Given the description of an element on the screen output the (x, y) to click on. 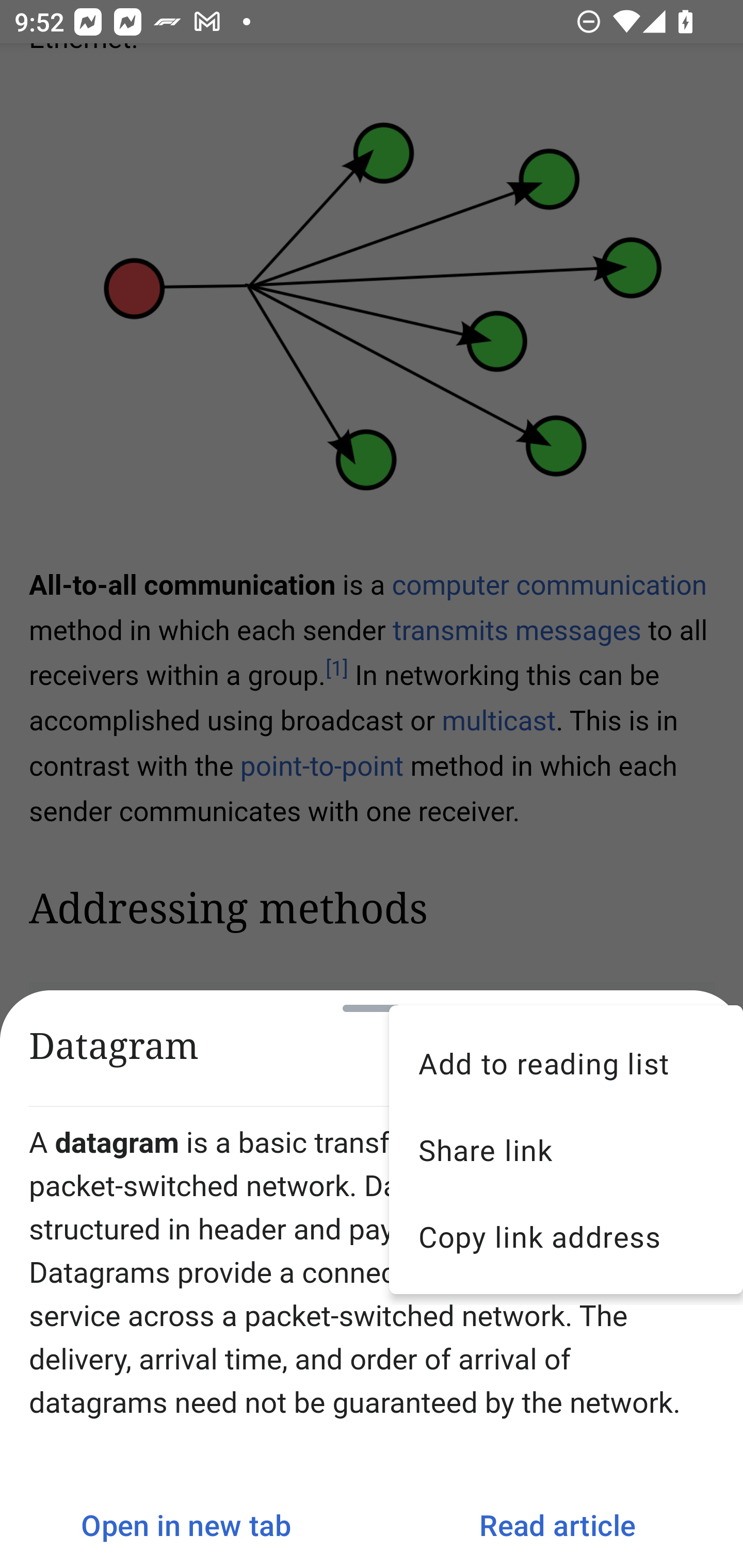
Add to reading list (566, 1063)
Share link (566, 1150)
Copy link address (566, 1236)
